Given the description of an element on the screen output the (x, y) to click on. 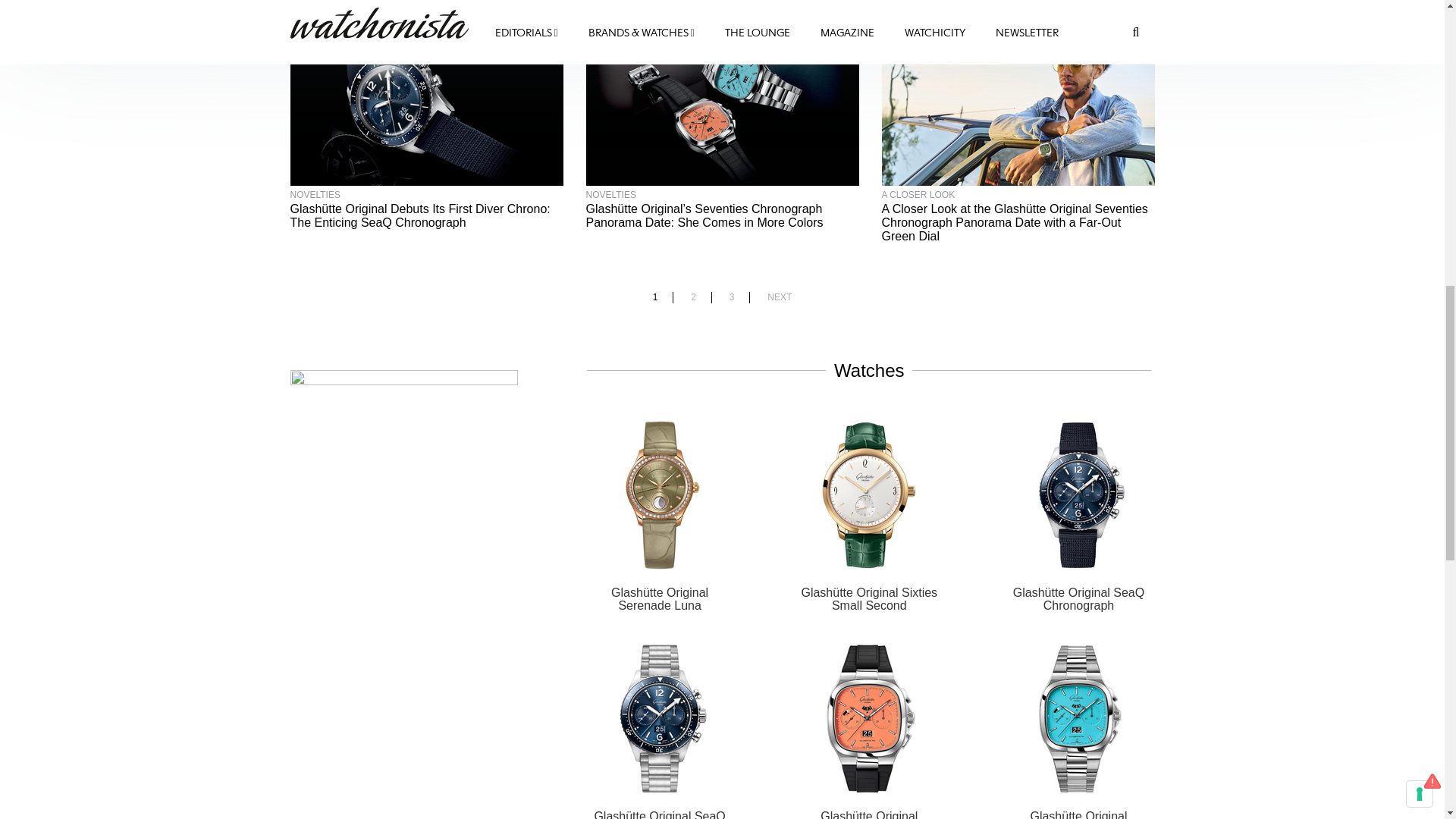
Sign up (1358, 299)
